Given the description of an element on the screen output the (x, y) to click on. 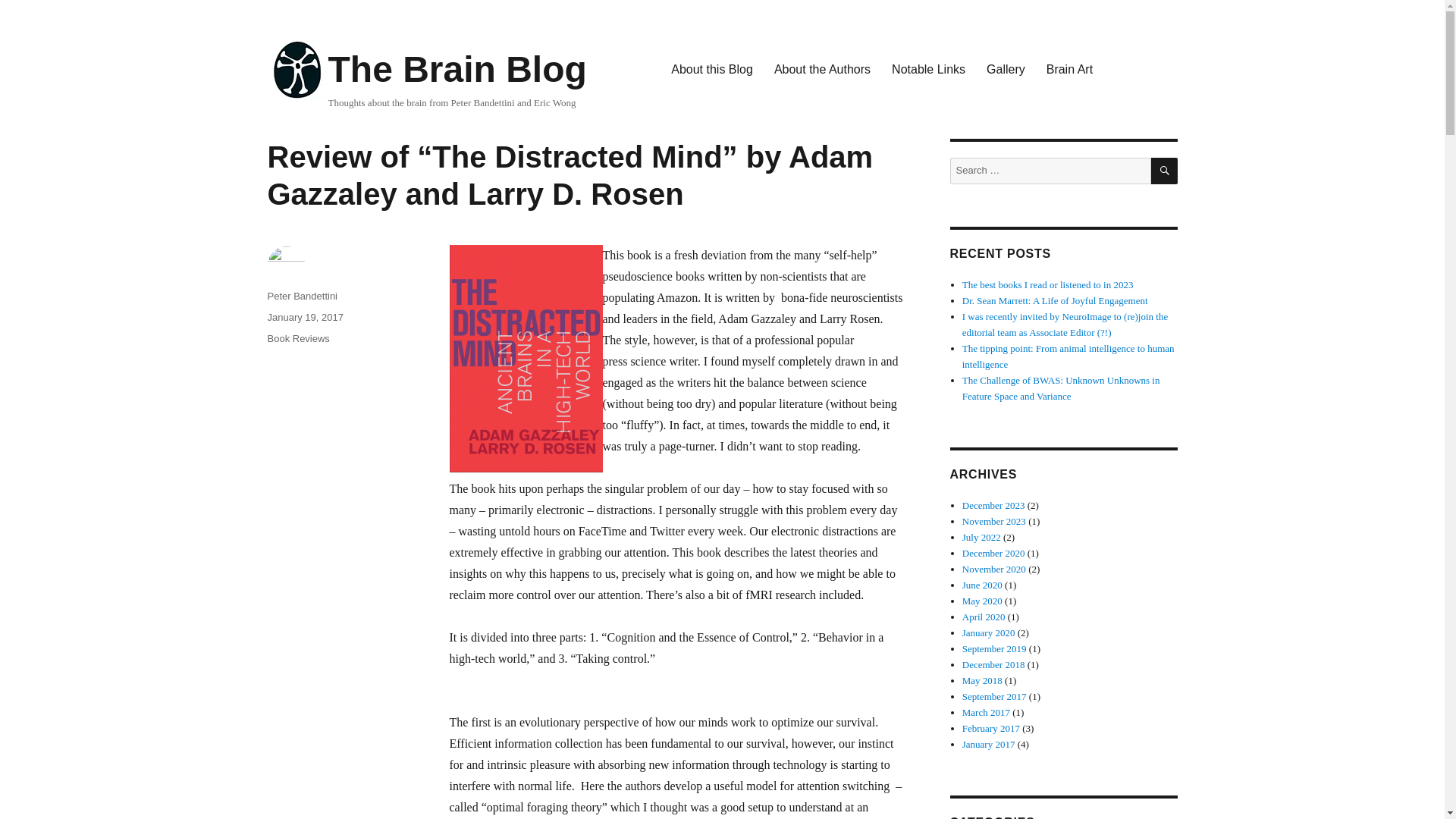
SEARCH (1164, 171)
Dr. Sean Marrett: A Life of Joyful Engagement (1055, 300)
January 19, 2017 (304, 317)
Brain Art (1069, 69)
July 2022 (981, 536)
November 2020 (994, 568)
About the Authors (821, 69)
January 2020 (988, 632)
Peter Bandettini (301, 296)
November 2023 (994, 521)
The Brain Blog (456, 69)
The best books I read or listened to in 2023 (1048, 284)
May 2020 (982, 600)
June 2020 (982, 584)
